Given the description of an element on the screen output the (x, y) to click on. 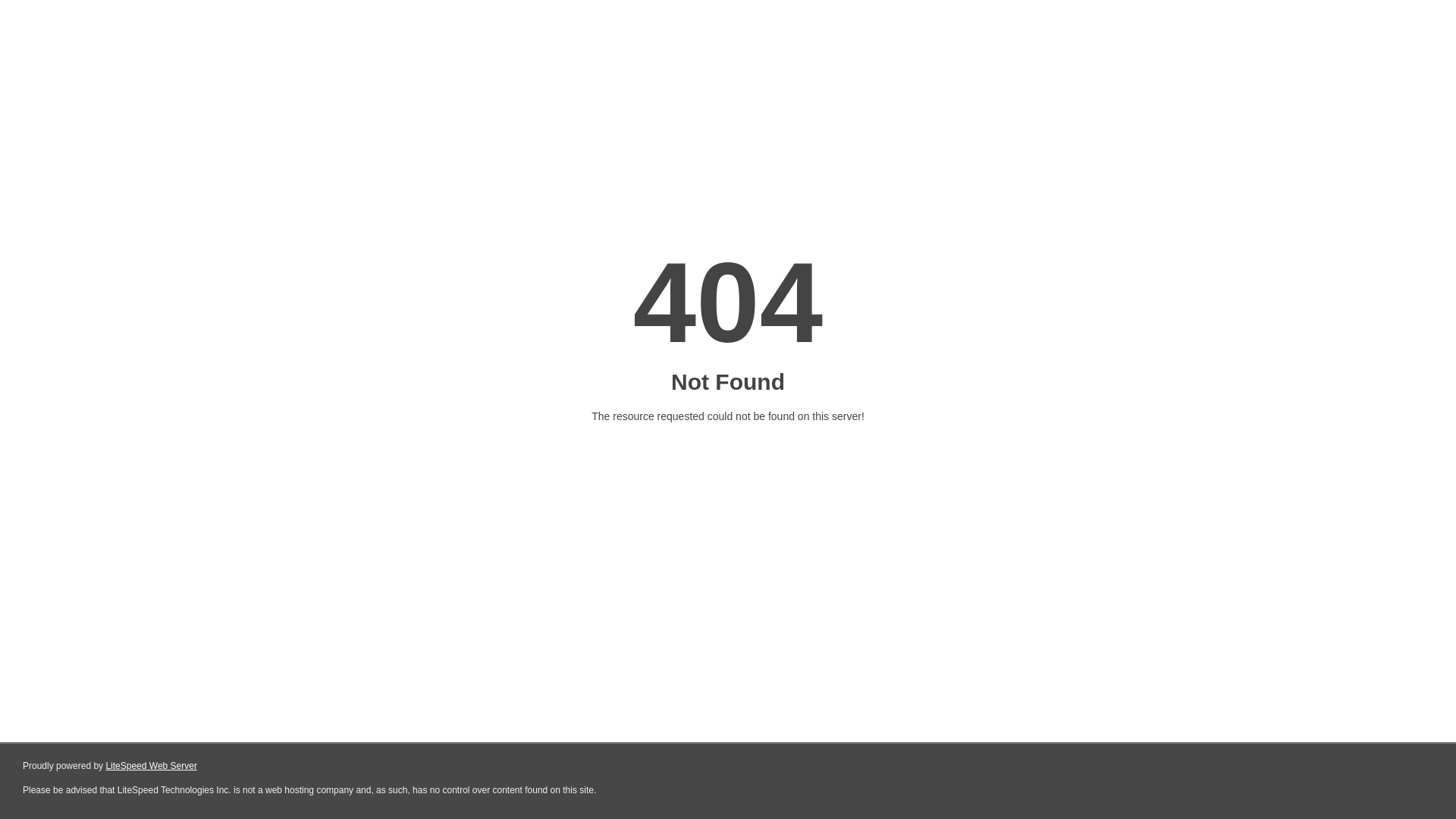
LiteSpeed Web Server Element type: text (151, 765)
